Given the description of an element on the screen output the (x, y) to click on. 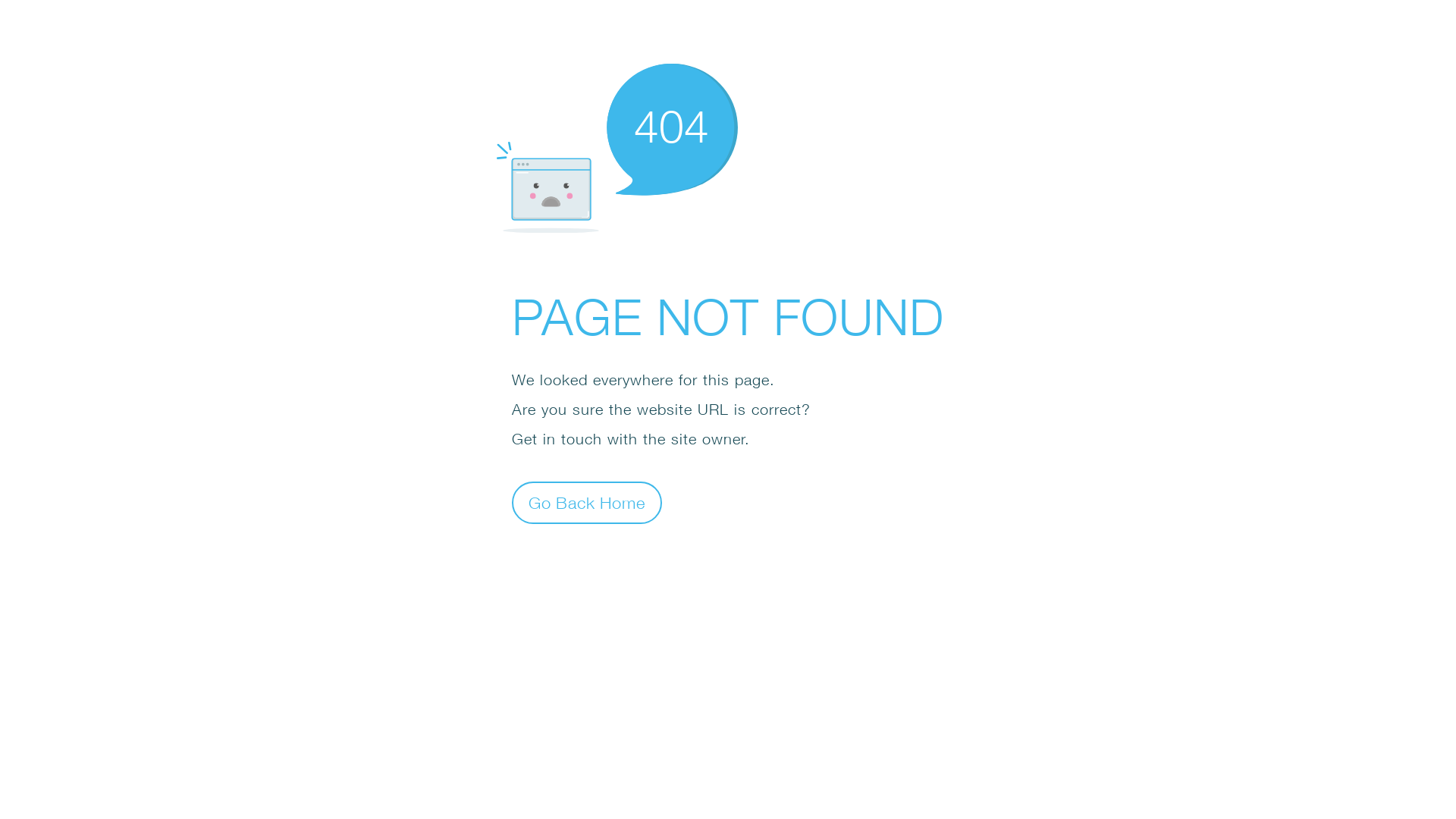
Go Back Home Element type: text (586, 502)
